Given the description of an element on the screen output the (x, y) to click on. 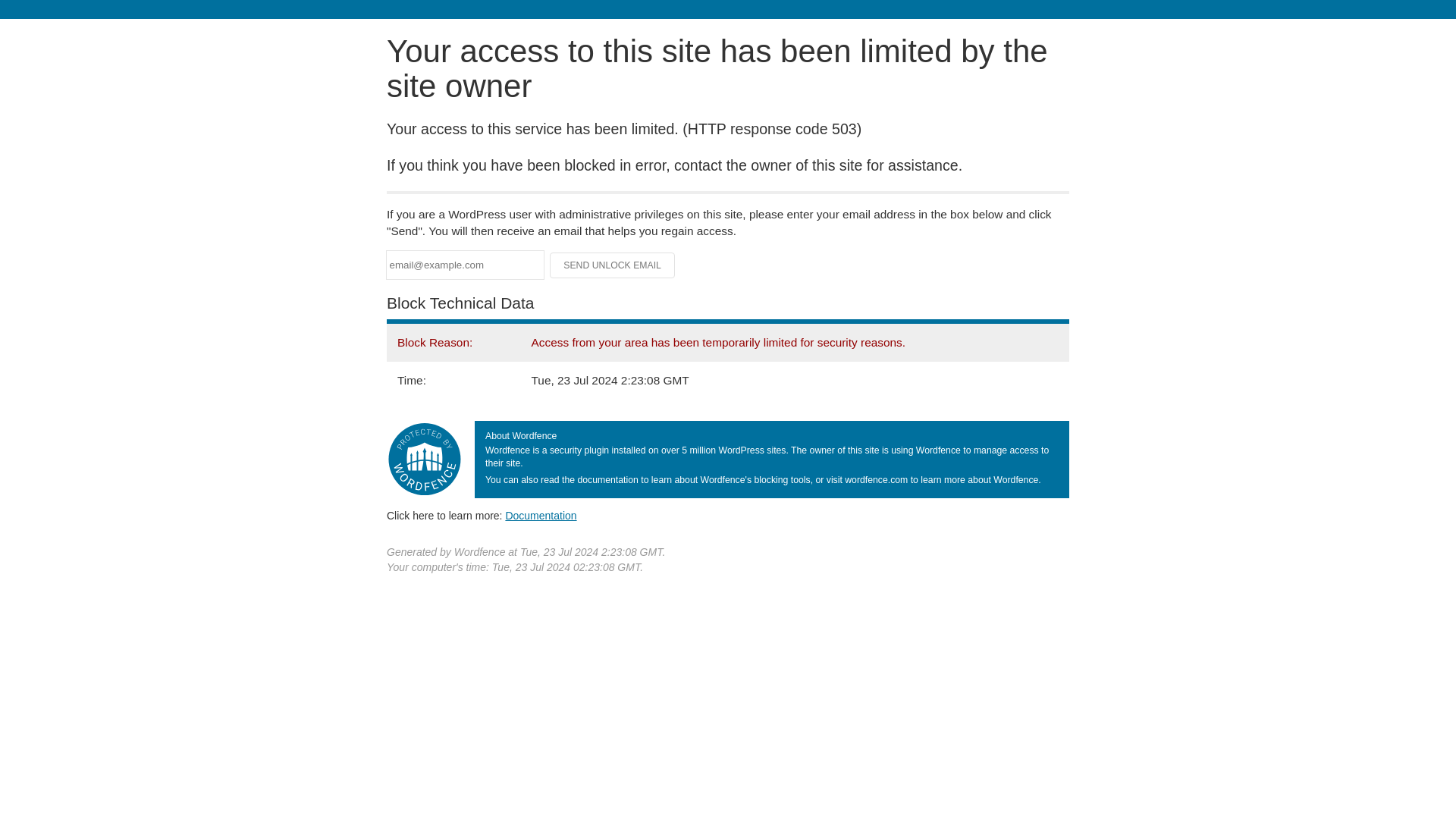
Send Unlock Email (612, 265)
Documentation (540, 515)
Send Unlock Email (612, 265)
